Given the description of an element on the screen output the (x, y) to click on. 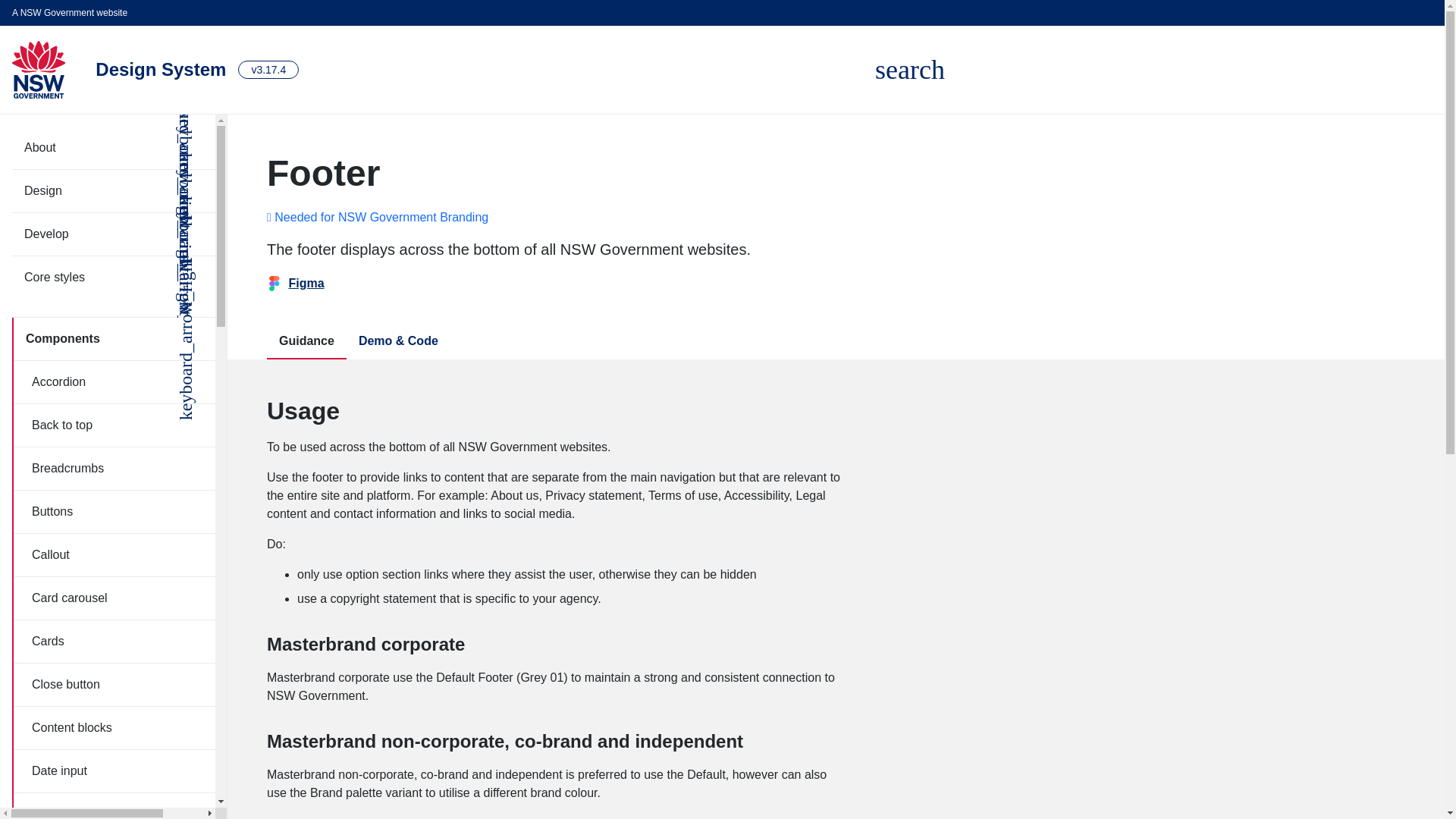
NSW Government (38, 69)
Accordion (909, 69)
